Given the description of an element on the screen output the (x, y) to click on. 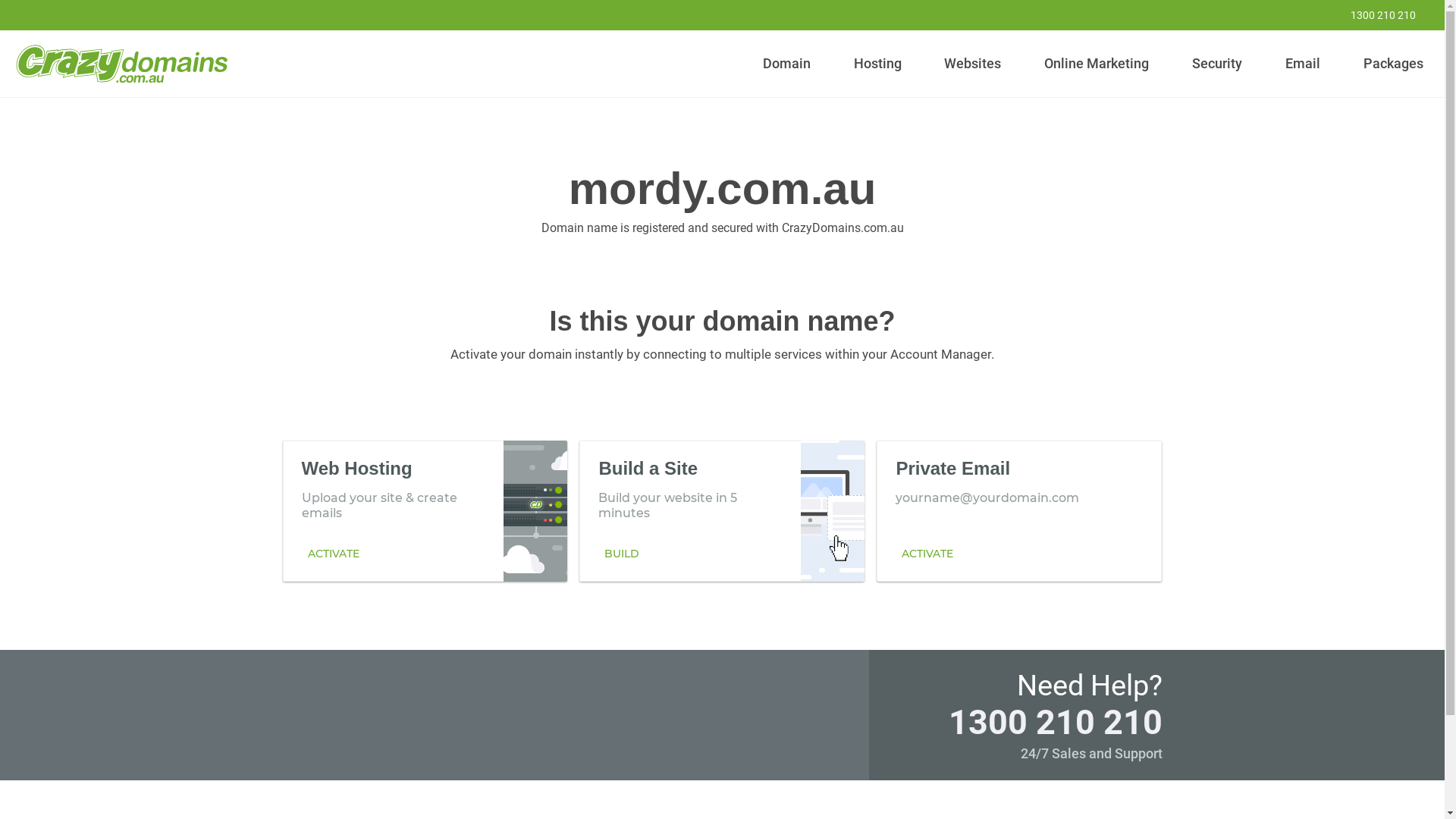
Domain Element type: text (786, 63)
Private Email
yourname@yourdomain.com
ACTIVATE Element type: text (1018, 509)
Packages Element type: text (1392, 63)
Web Hosting
Upload your site & create emails
ACTIVATE Element type: text (424, 509)
1300 210 210 Element type: text (1373, 15)
Online Marketing Element type: text (1096, 63)
1300 210 210 Element type: text (1054, 722)
Build a Site
Build your website in 5 minutes
BUILD Element type: text (721, 509)
Hosting Element type: text (877, 63)
Email Element type: text (1302, 63)
Websites Element type: text (972, 63)
Security Element type: text (1217, 63)
